Given the description of an element on the screen output the (x, y) to click on. 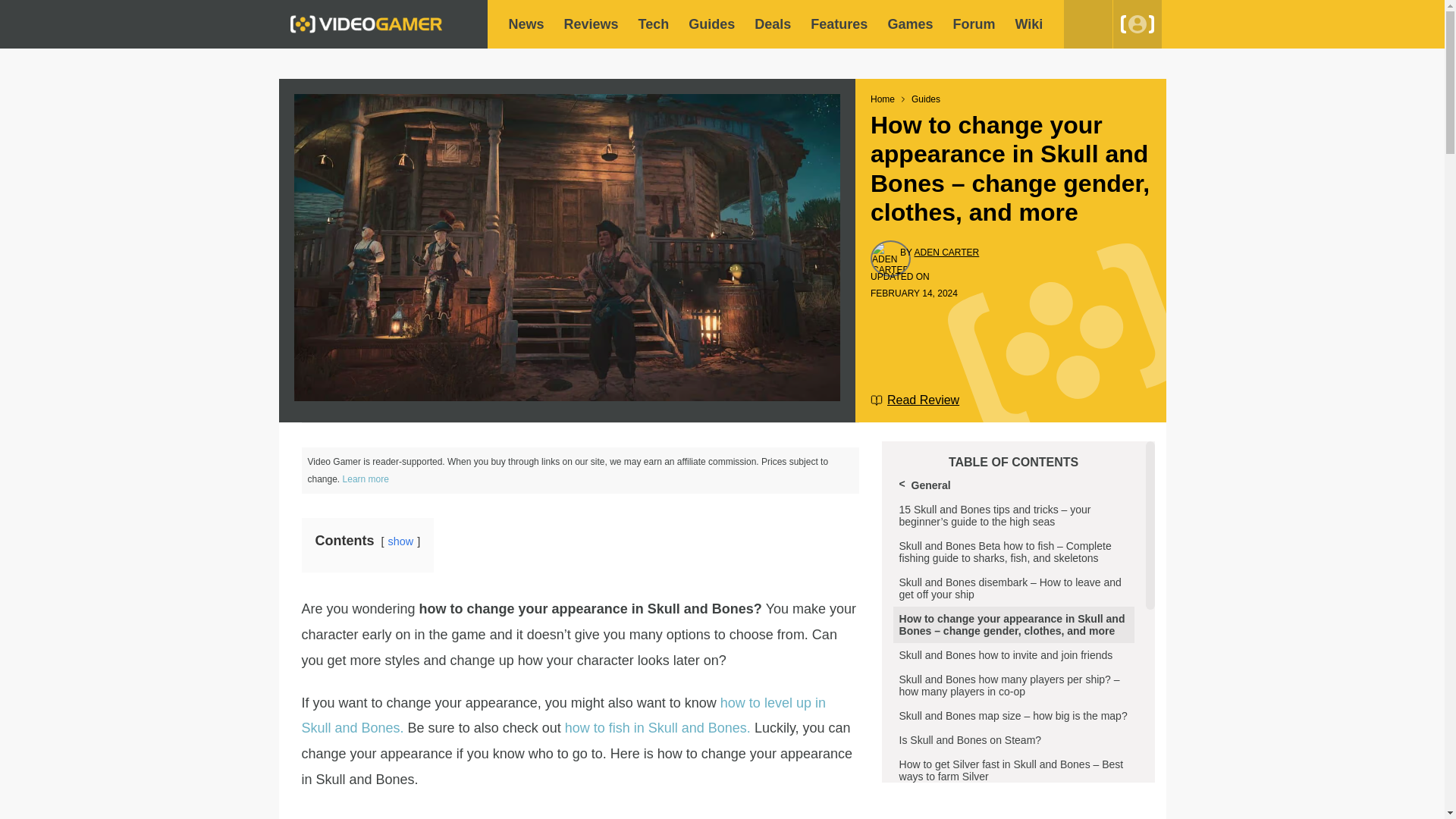
Tech (653, 24)
ADEN CARTER (946, 252)
News (526, 24)
Features (838, 24)
Reviews (591, 24)
how to fish in Skull and Bones. (657, 727)
Games (909, 24)
Read Review (914, 400)
Reviews (591, 24)
show (400, 541)
Wiki (1028, 24)
Guides (711, 24)
Features (838, 24)
Deals (772, 24)
Guides (711, 24)
